Given the description of an element on the screen output the (x, y) to click on. 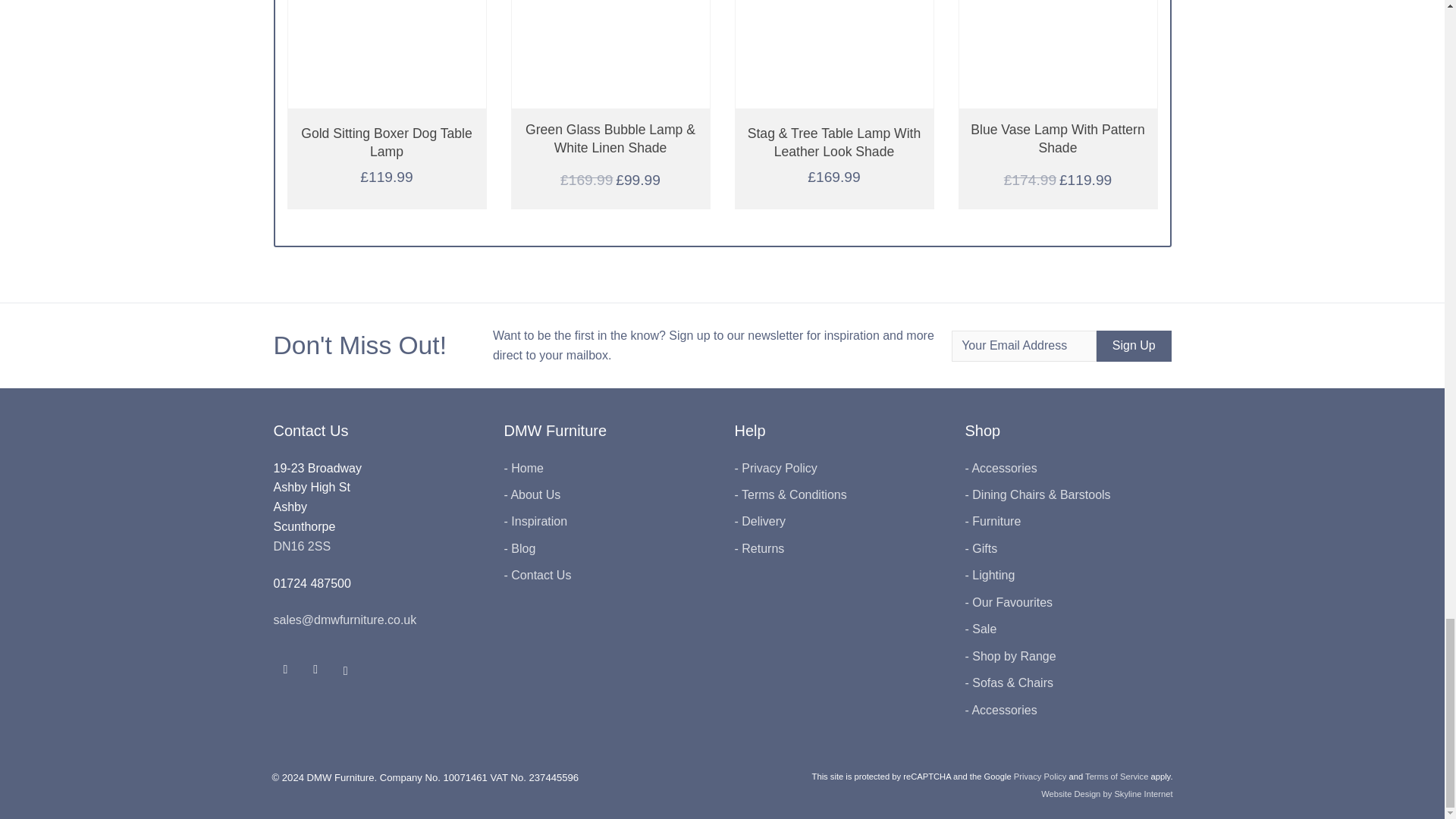
Sign Up (1134, 345)
